Given the description of an element on the screen output the (x, y) to click on. 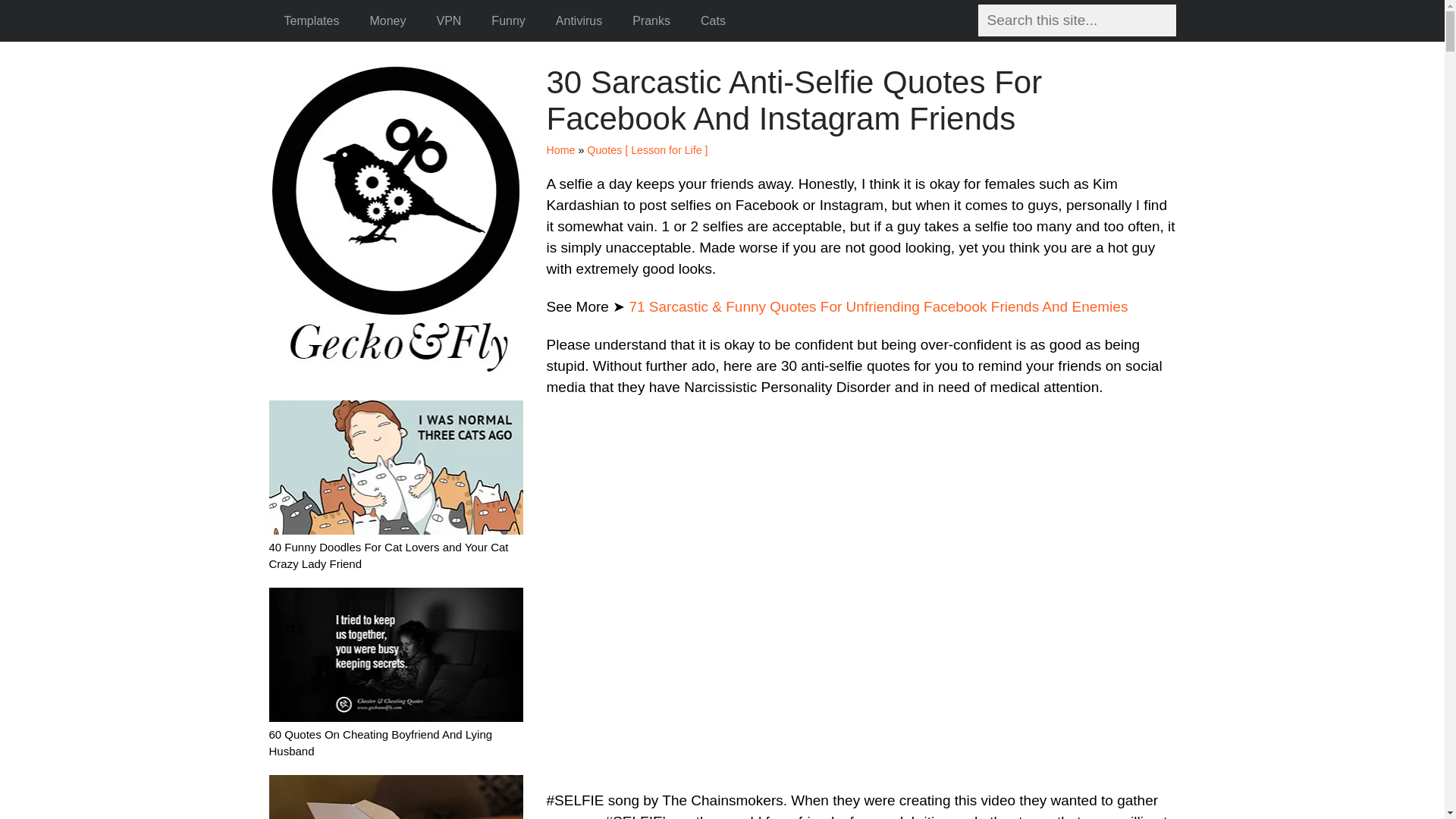
Money (386, 20)
Funny (508, 20)
Antivirus (578, 20)
Templates (310, 20)
VPN (448, 20)
Cats (713, 20)
Pranks (651, 20)
60 Quotes On Cheating Boyfriend And Lying Husband (394, 734)
